Given the description of an element on the screen output the (x, y) to click on. 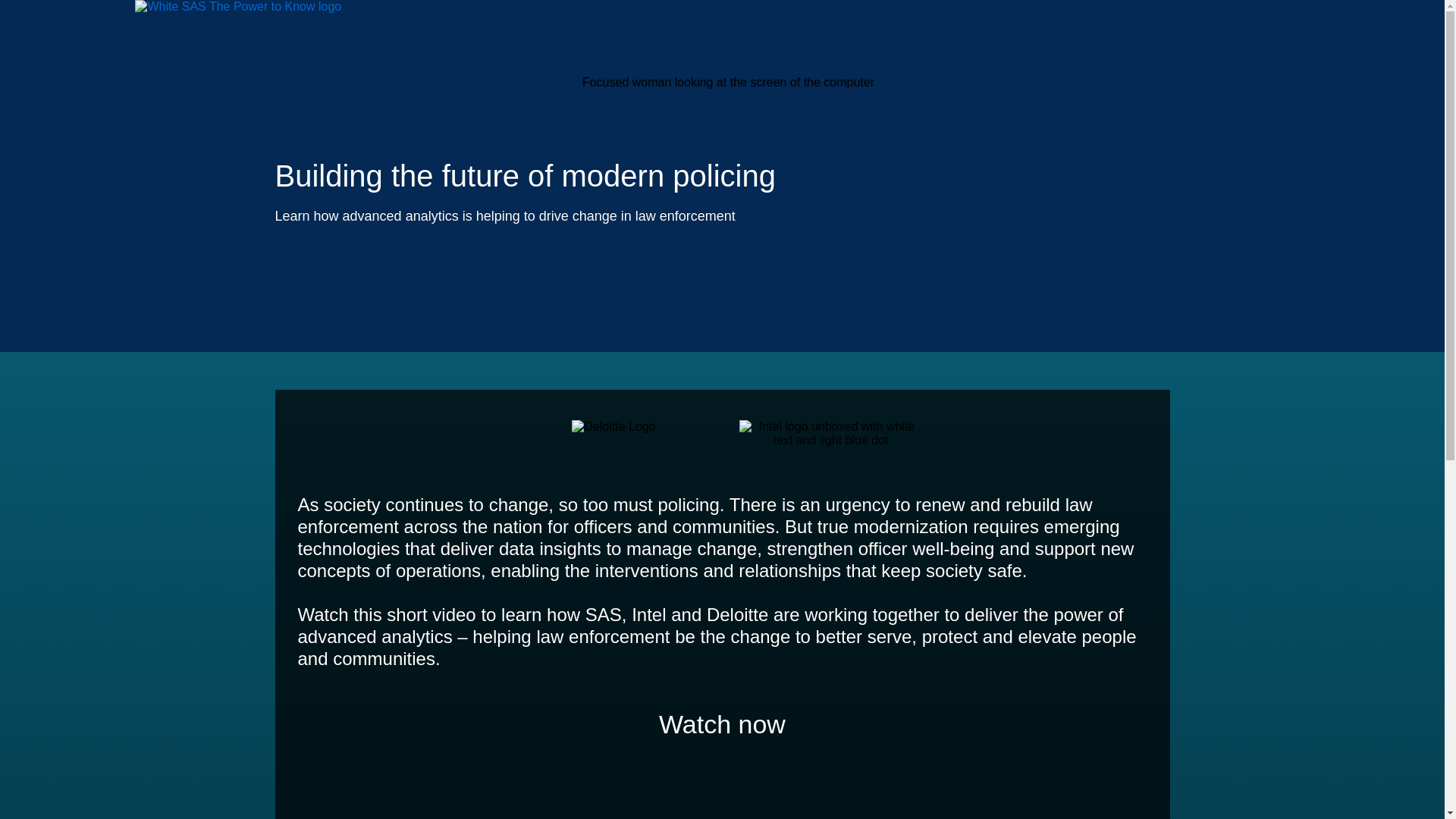
White SAS The Power to Know logo (237, 6)
Deloitte Logo (613, 427)
Intel logo unboxed with white text and light blue dot (829, 433)
